Given the description of an element on the screen output the (x, y) to click on. 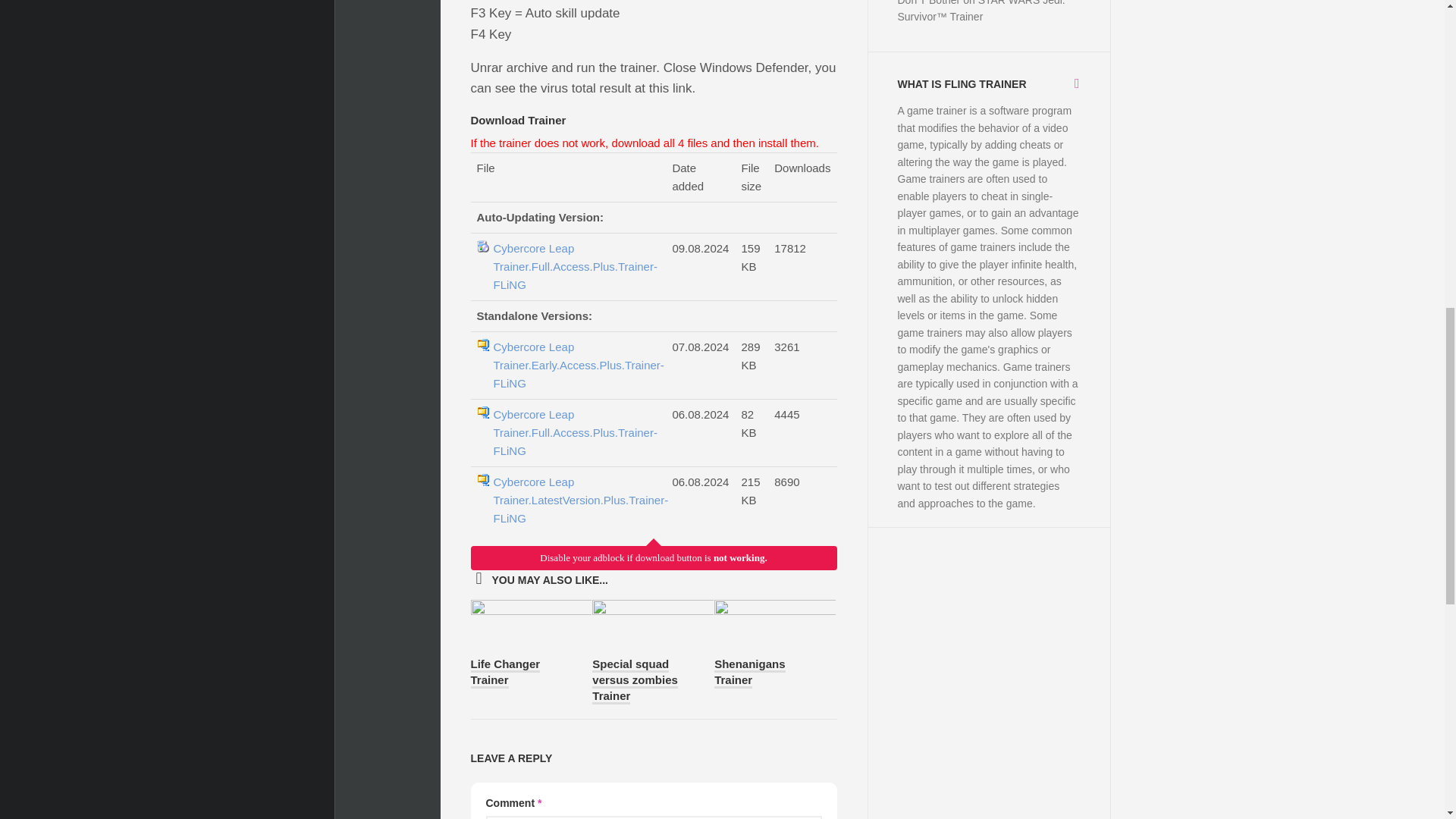
Cybercore Leap Trainer.Early.Access.Plus.Trainer-FLiNG (575, 365)
Cybercore Leap Trainer.Early.Access.Plus.12.Trainer-FLiNG (575, 365)
Special squad versus zombies Trainer (635, 680)
Cybercore Leap Trainer.Early.Access.Plus.12.Trainer-FLiNG (575, 266)
Cybercore Leap Trainer.Full.Access.Plus.Trainer-FLiNG (575, 432)
Shenanigans Trainer (749, 672)
Cybercore Leap Trainer.Full.Access.Plus.12.Trainer-FLiNG (575, 500)
Cybercore Leap Trainer.LatestVersion.Plus.Trainer-FLiNG (575, 500)
Life Changer Trainer (505, 672)
Cybercore Leap Trainer.Full.Access.Plus.Trainer-FLiNG (575, 266)
